Given the description of an element on the screen output the (x, y) to click on. 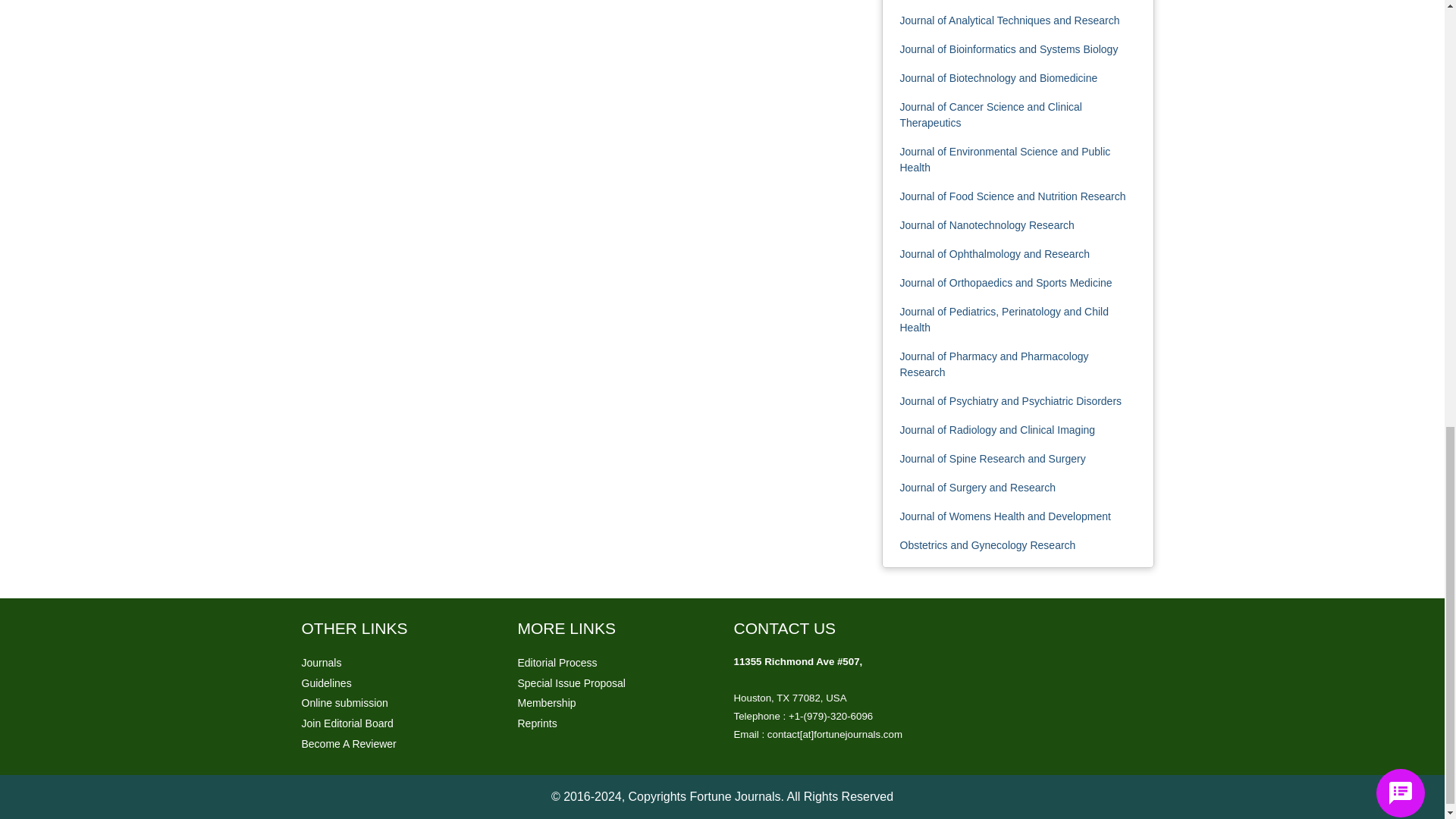
Journal of Orthopaedics and Sports Medicine (1005, 282)
Journal of Nanotechnology Research (986, 224)
Journal of Bioinformatics and Systems Biology (1008, 49)
Journal of Cancer Science and Clinical Therapeutics (990, 114)
Journal of Biotechnology and Biomedicine (998, 78)
Journal of Food Science and Nutrition Research (1012, 196)
Journal of Analytical Techniques and Research (1009, 20)
Journal of Pediatrics, Perinatology and Child Health (1003, 319)
Journal of Ophthalmology and Research (994, 254)
Journal of Environmental Science and Public Health (1004, 159)
